Given the description of an element on the screen output the (x, y) to click on. 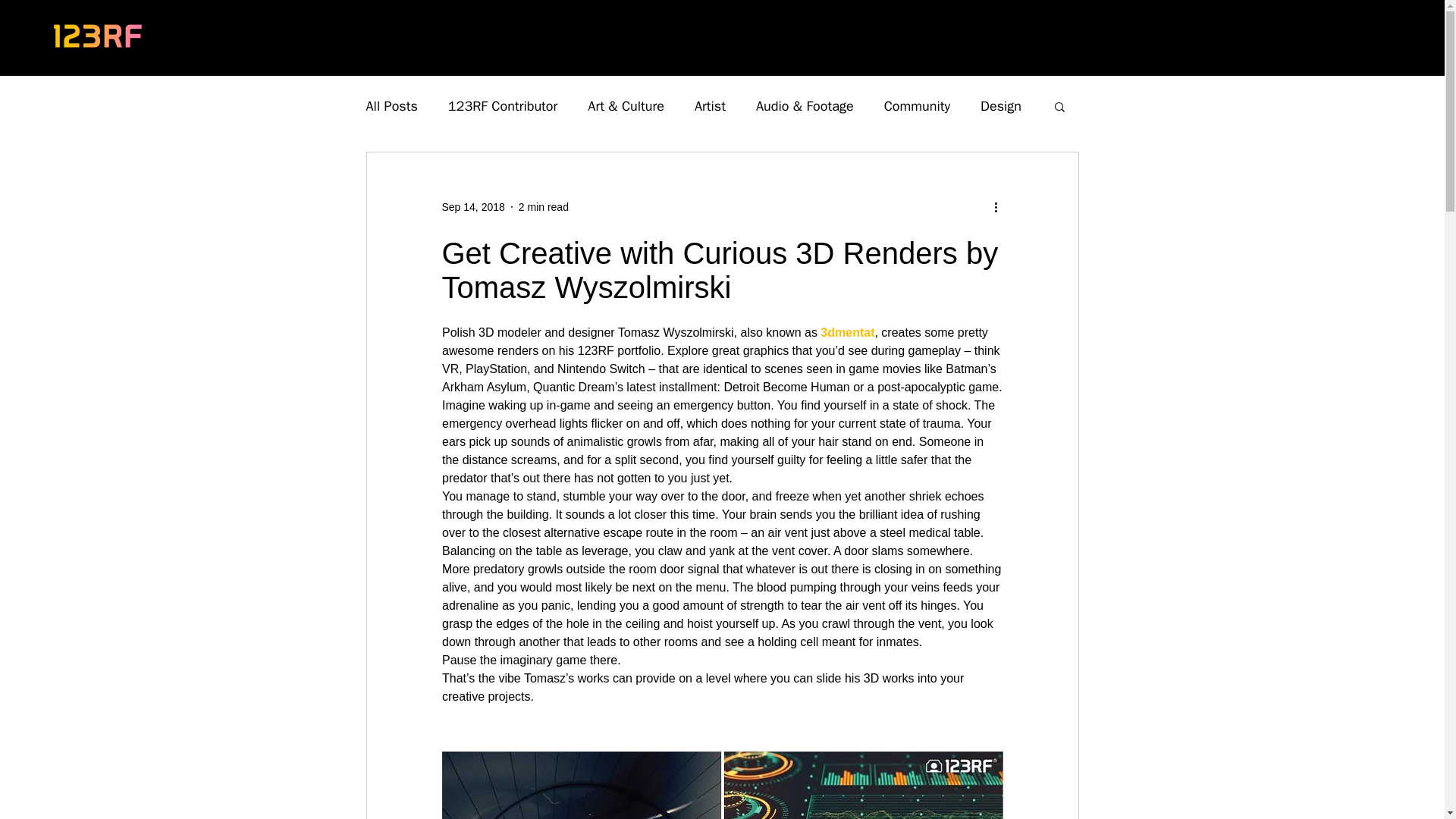
123RF Contributor (502, 106)
Design (1000, 106)
3dmentat (848, 332)
All Posts (390, 106)
2 min read (543, 205)
Artist (709, 106)
Sep 14, 2018 (472, 205)
Community (916, 106)
